Given the description of an element on the screen output the (x, y) to click on. 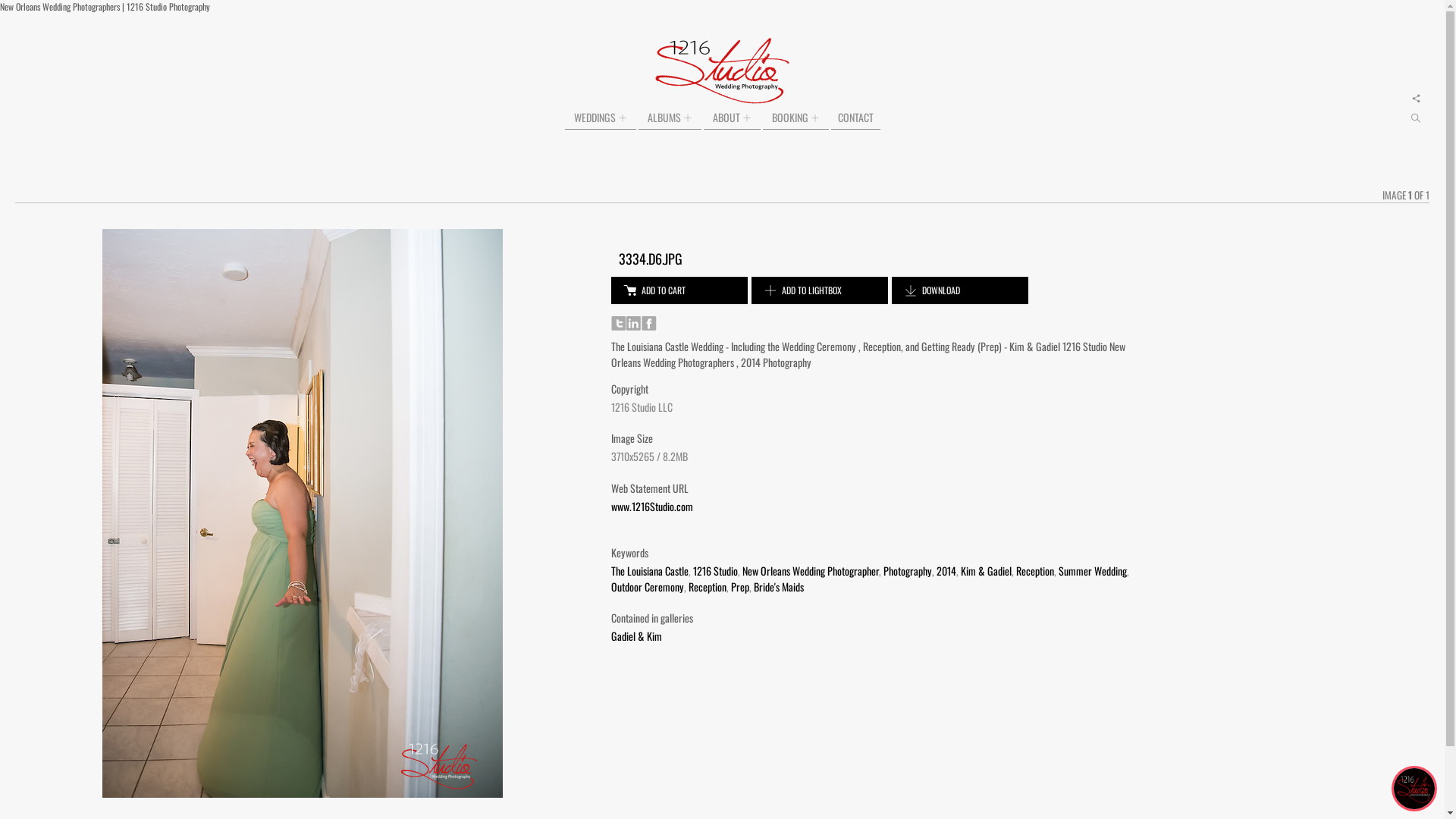
CONTACT Element type: text (854, 117)
ADD TO LIGHTBOX Element type: text (819, 290)
Bride's Maids Element type: text (778, 586)
The Louisiana Castle Element type: text (649, 570)
Reception Element type: text (1035, 570)
www.1216Studio.com Element type: text (652, 506)
1216STUDIO NEW ORLEANS WEDDING PHOTOGRAPHERS Element type: text (722, 70)
Outdoor Ceremony Element type: text (647, 586)
DOWNLOAD Element type: text (959, 290)
Kim & Gadiel Element type: text (985, 570)
Gadiel & Kim Element type: text (636, 635)
x Element type: text (1416, 98)
Summer Wedding Element type: text (1092, 570)
1216 Studio Element type: text (715, 570)
ADD TO CART Element type: text (679, 290)
New Orleans Wedding Photographer Element type: text (810, 570)
Prep Element type: text (740, 586)
Photography Element type: text (907, 570)
2014 Element type: text (946, 570)
Reception Element type: text (707, 586)
